Given the description of an element on the screen output the (x, y) to click on. 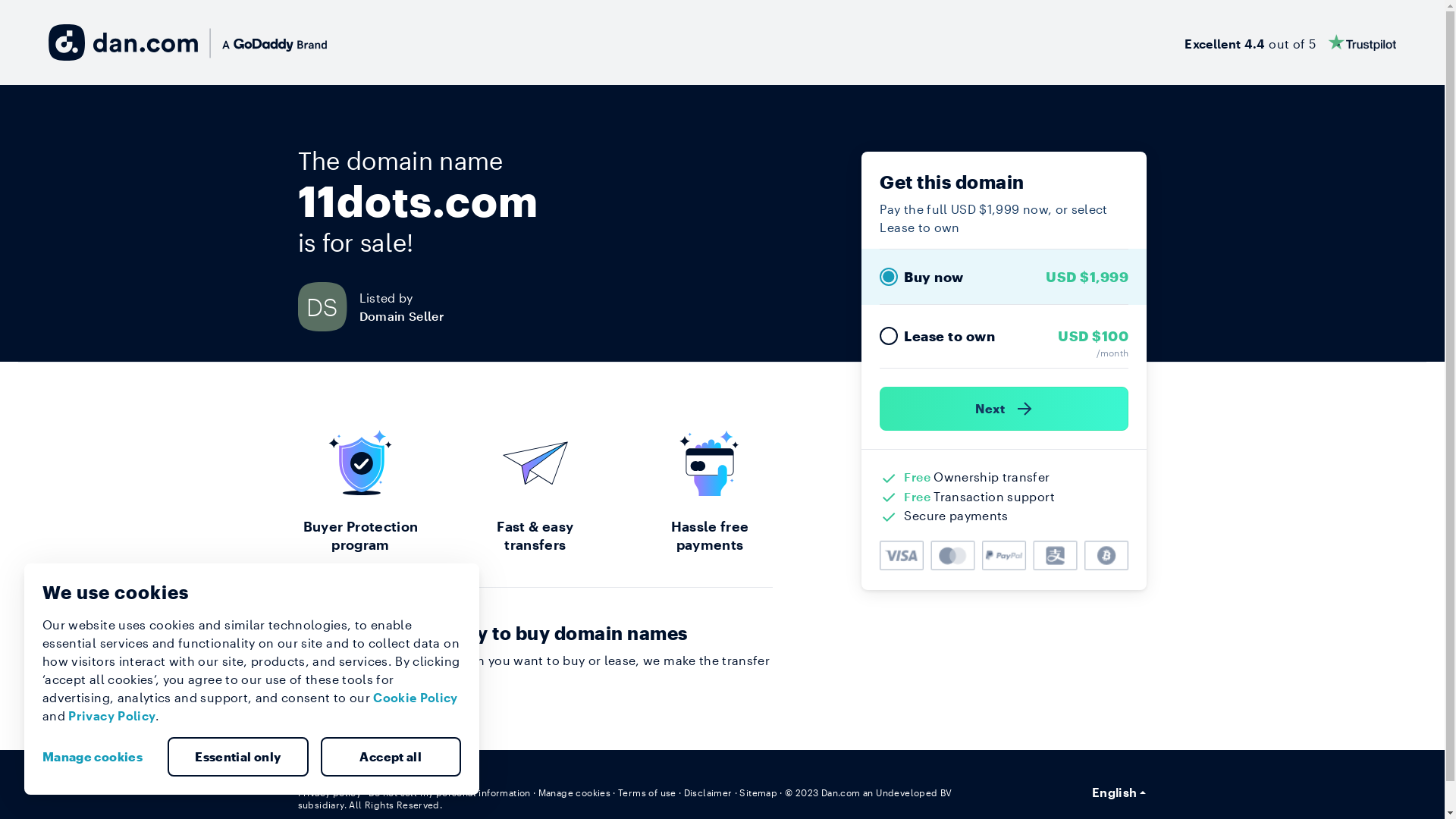
Manage cookies Element type: text (574, 792)
Excellent 4.4 out of 5 Element type: text (1290, 42)
Do not sell my personal information Element type: text (449, 792)
Next
) Element type: text (1003, 408)
Accept all Element type: text (390, 756)
Manage cookies Element type: text (98, 756)
Privacy policy Element type: text (328, 792)
Privacy Policy Element type: text (111, 715)
Sitemap Element type: text (758, 792)
Essential only Element type: text (237, 756)
Cookie Policy Element type: text (415, 697)
English Element type: text (1119, 792)
Disclaimer Element type: text (708, 792)
Terms of use Element type: text (647, 792)
